Given the description of an element on the screen output the (x, y) to click on. 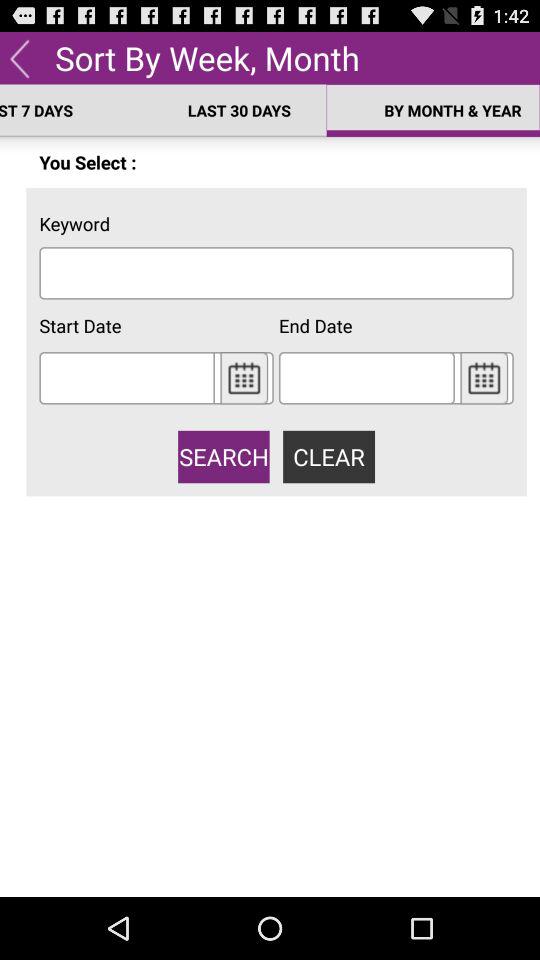
keyword text (276, 272)
